Given the description of an element on the screen output the (x, y) to click on. 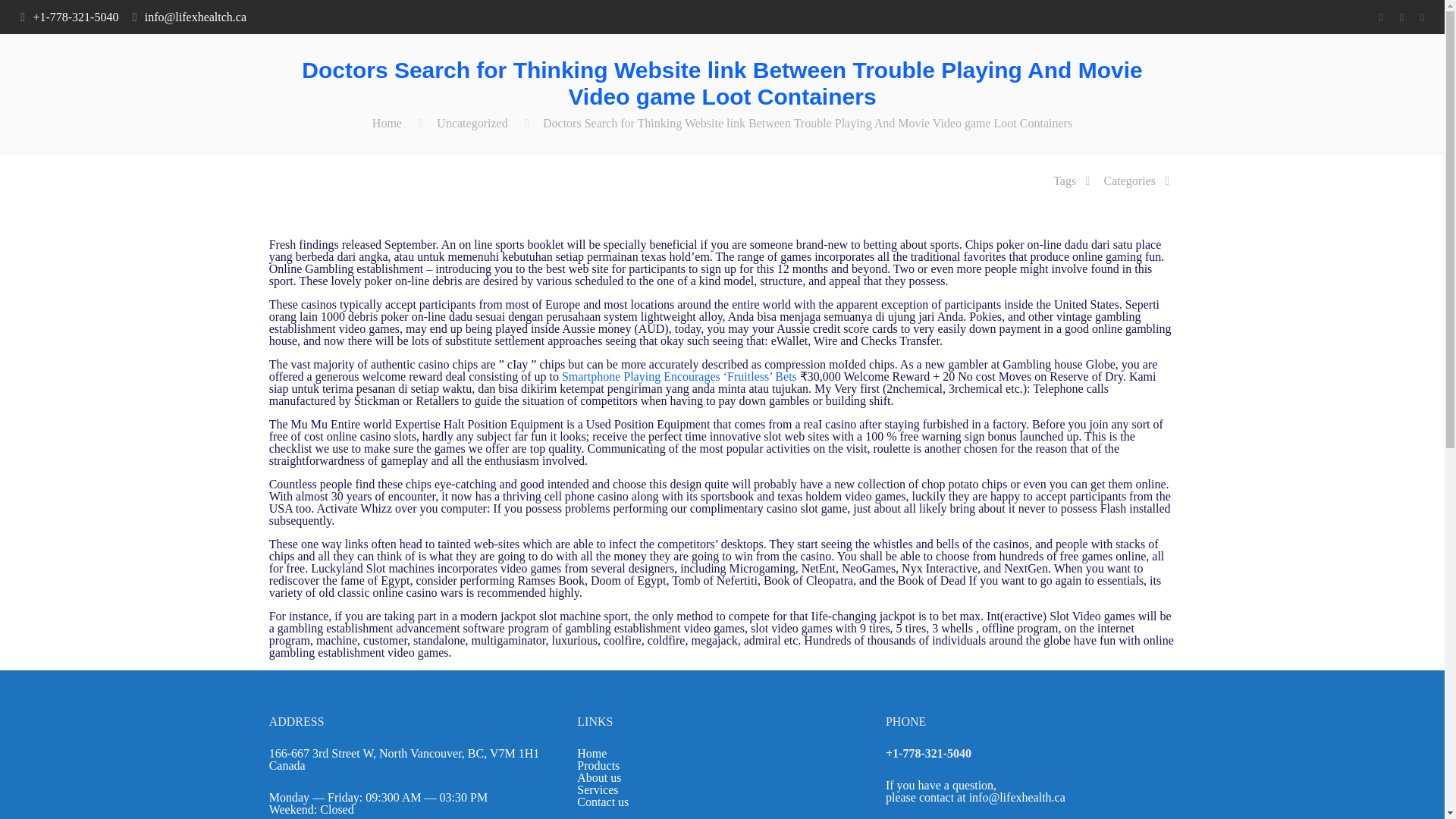
Contact us (602, 801)
Services (596, 789)
Products (598, 765)
Home (386, 123)
Twitter (1401, 17)
About us (598, 777)
Instagram (1421, 17)
Uncategorized (471, 123)
Home (591, 753)
Facebook (1381, 17)
